Given the description of an element on the screen output the (x, y) to click on. 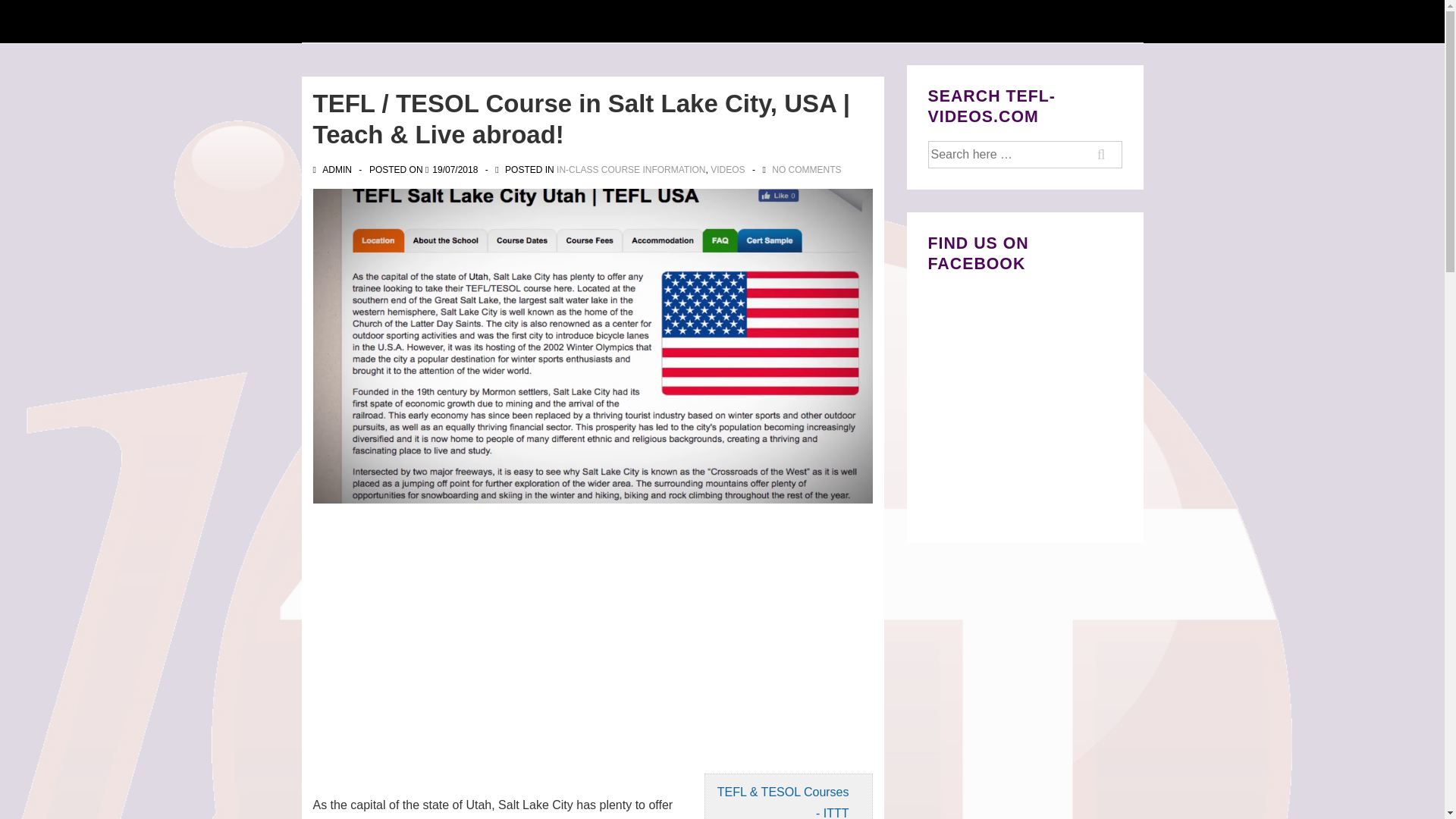
VIDEOS (727, 168)
ADMIN (333, 168)
IN-CLASS COURSE INFORMATION (630, 168)
View all posts by admin (333, 168)
NO COMMENTS (806, 168)
YouTube video player (504, 635)
